Given the description of an element on the screen output the (x, y) to click on. 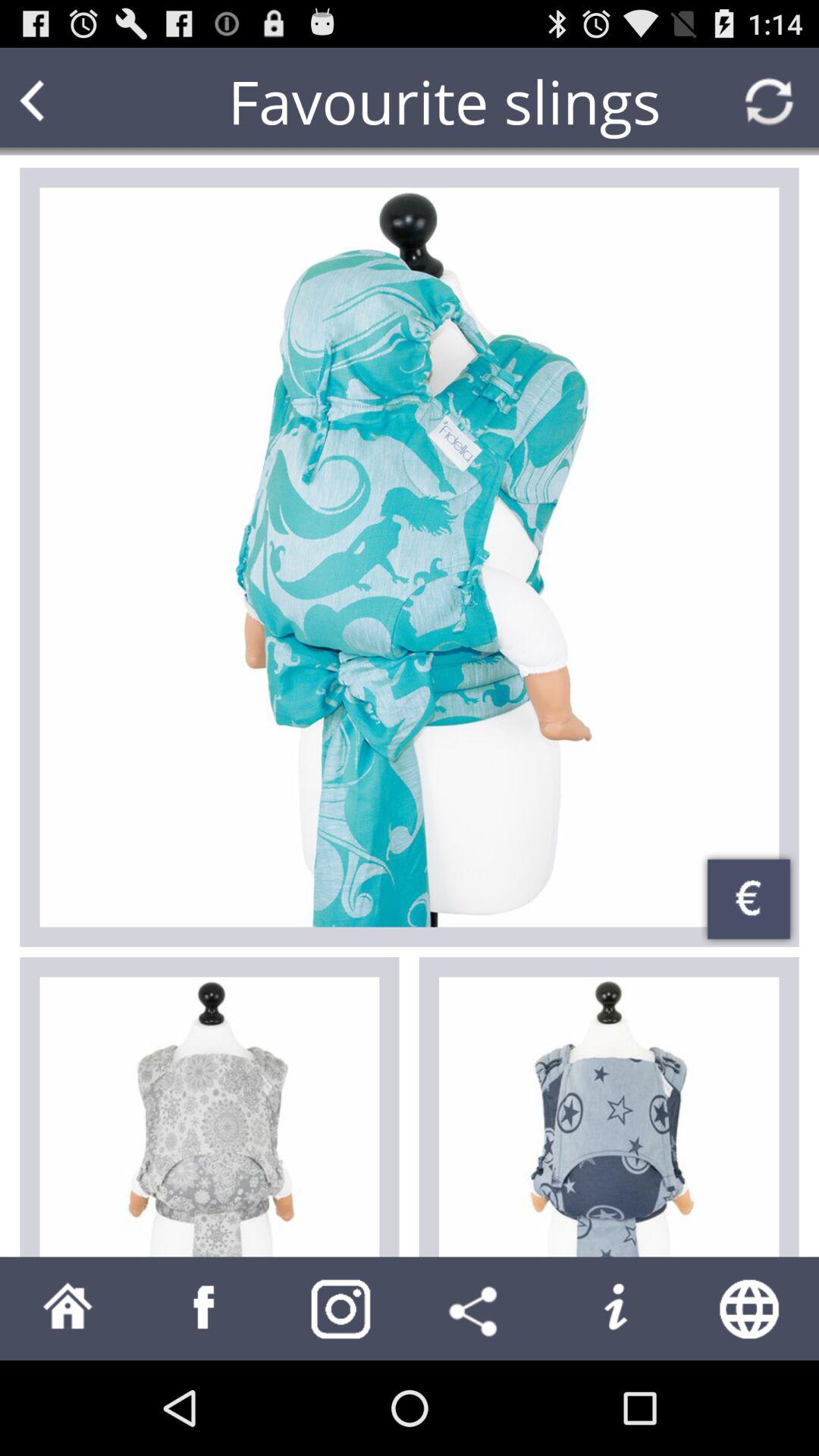
go home (68, 1308)
